Given the description of an element on the screen output the (x, y) to click on. 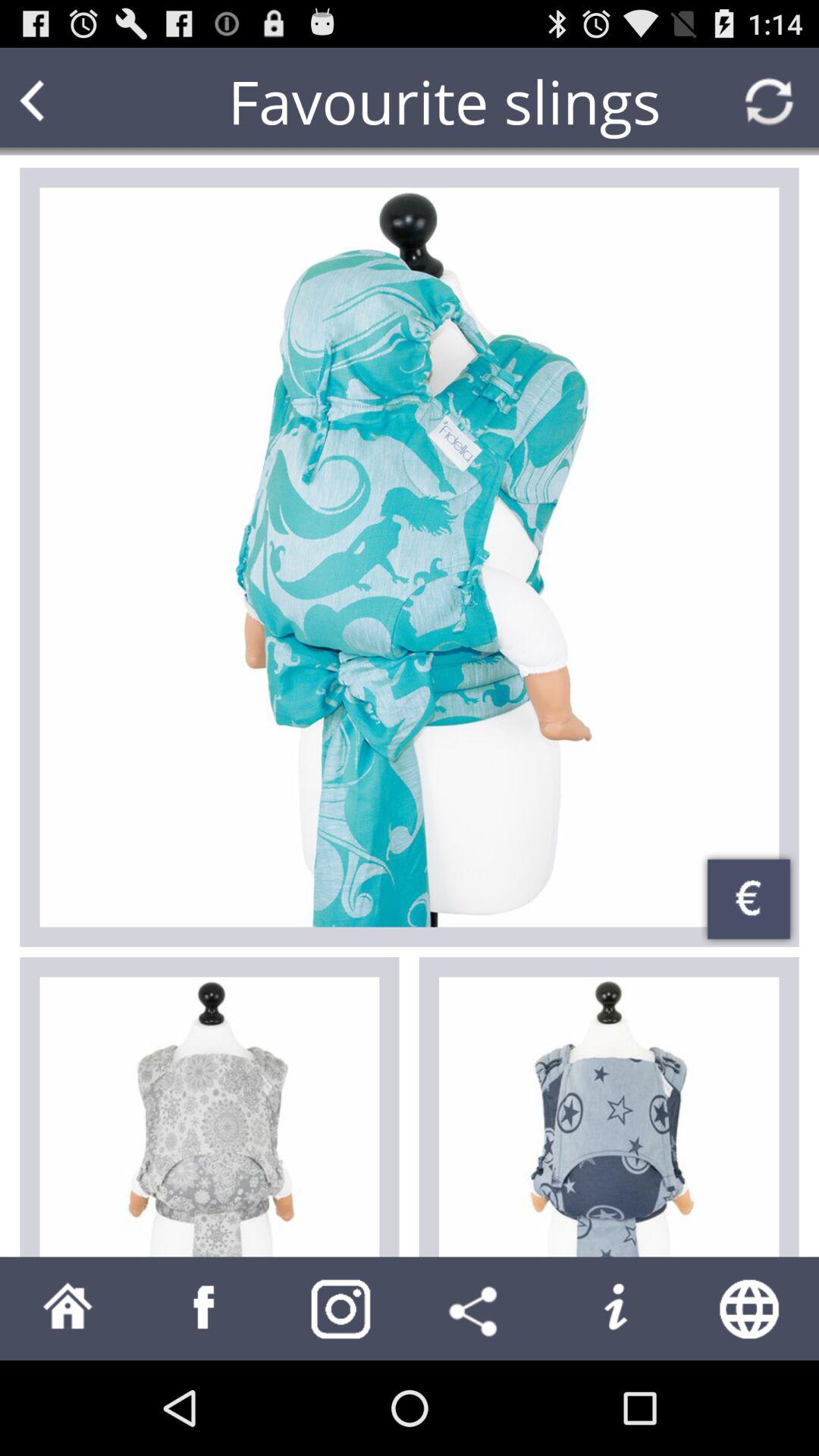
go home (68, 1308)
